Given the description of an element on the screen output the (x, y) to click on. 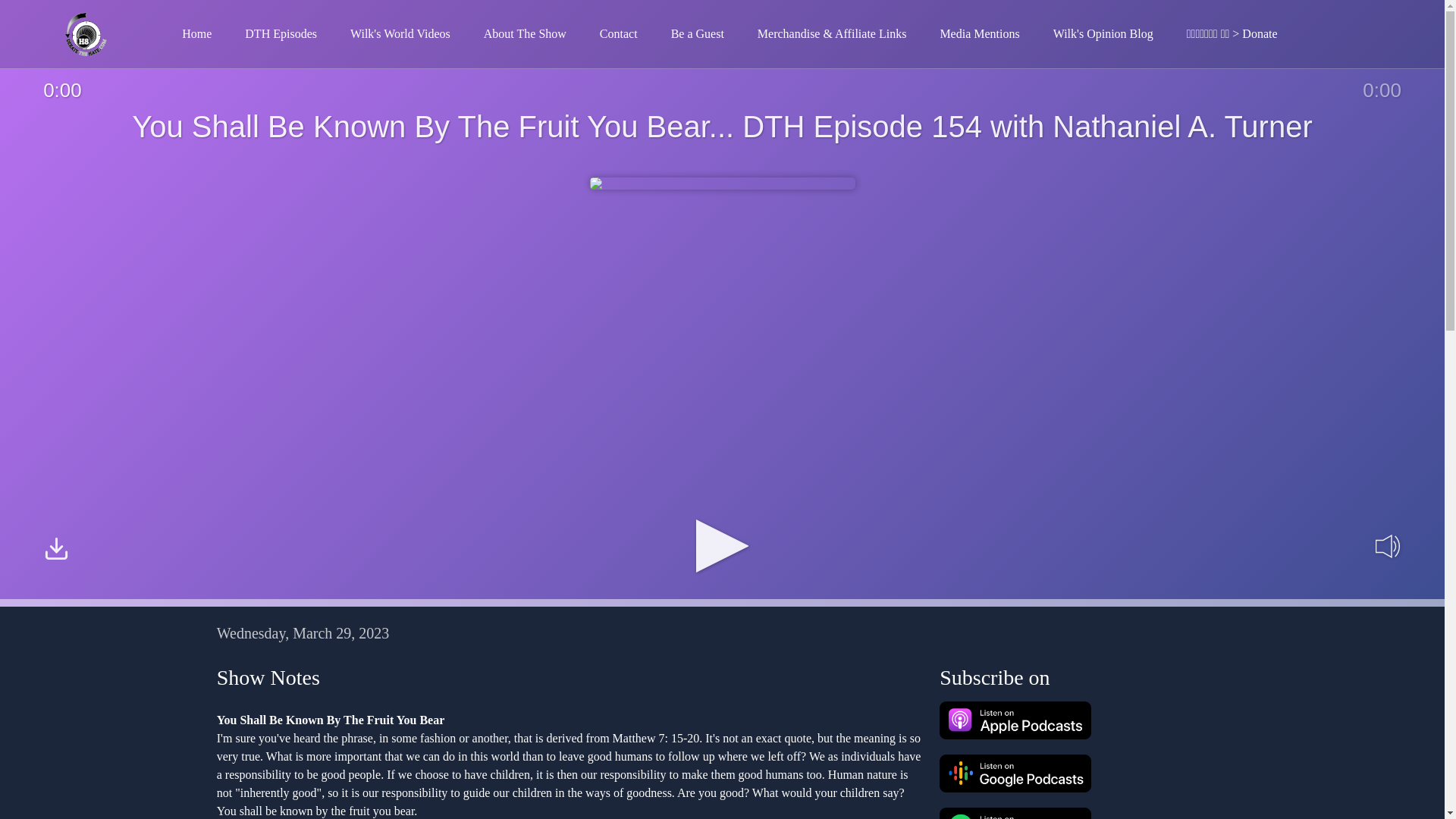
Home (197, 33)
Be a Guest (697, 33)
Listen on ApplePodcasts (1014, 720)
Listen on GooglePodcasts (1014, 773)
Download (56, 551)
Media Mentions (978, 33)
Contact (618, 33)
Wilk's World Videos (399, 33)
DTH Episodes (280, 33)
Listen on Spotify (1014, 813)
About The Show (524, 33)
Wilk's Opinion Blog (1103, 33)
